Given the description of an element on the screen output the (x, y) to click on. 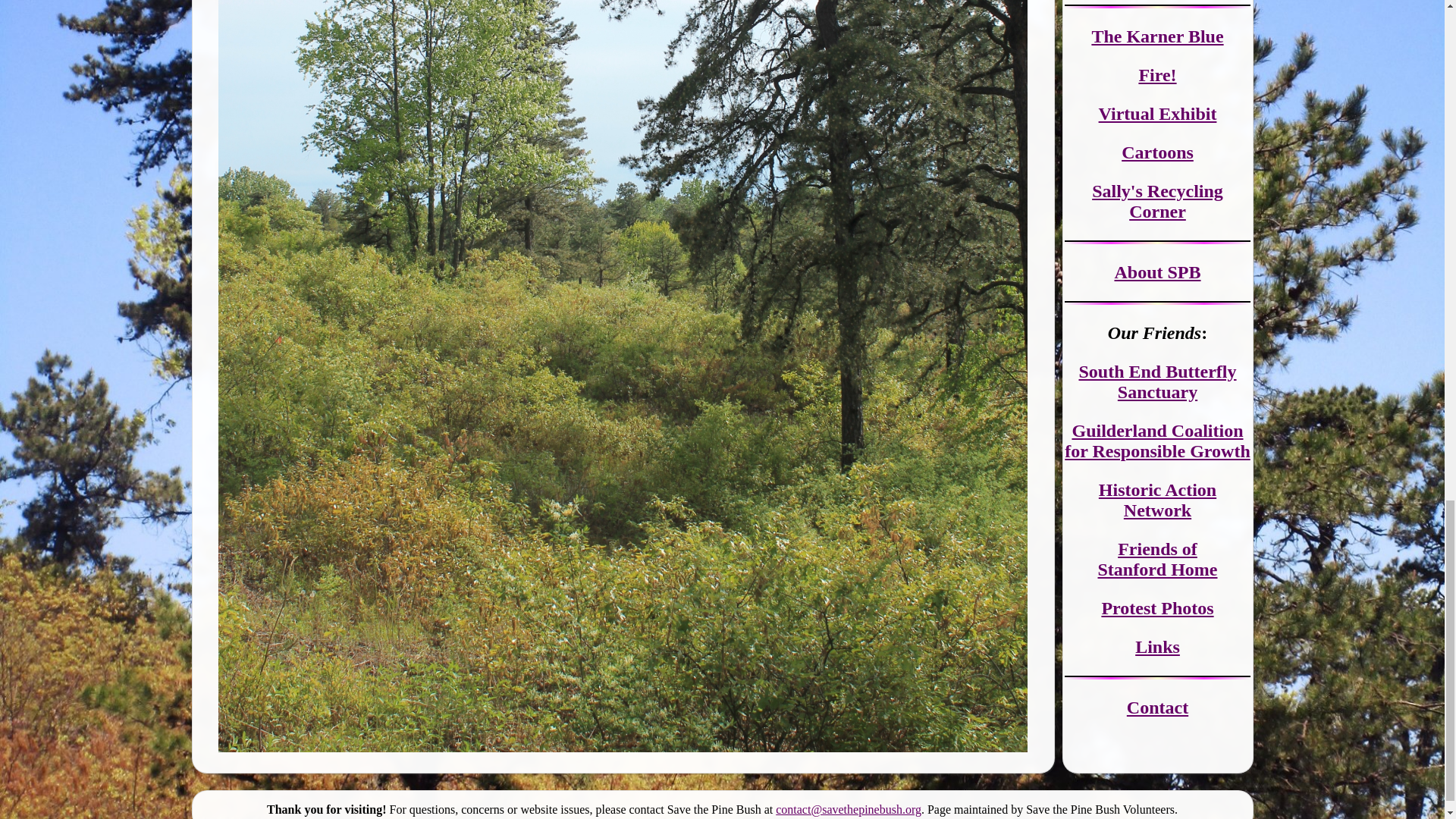
The Karner Blue (1156, 35)
Fire! (1157, 75)
Virtual Exhibit (1158, 113)
